Given the description of an element on the screen output the (x, y) to click on. 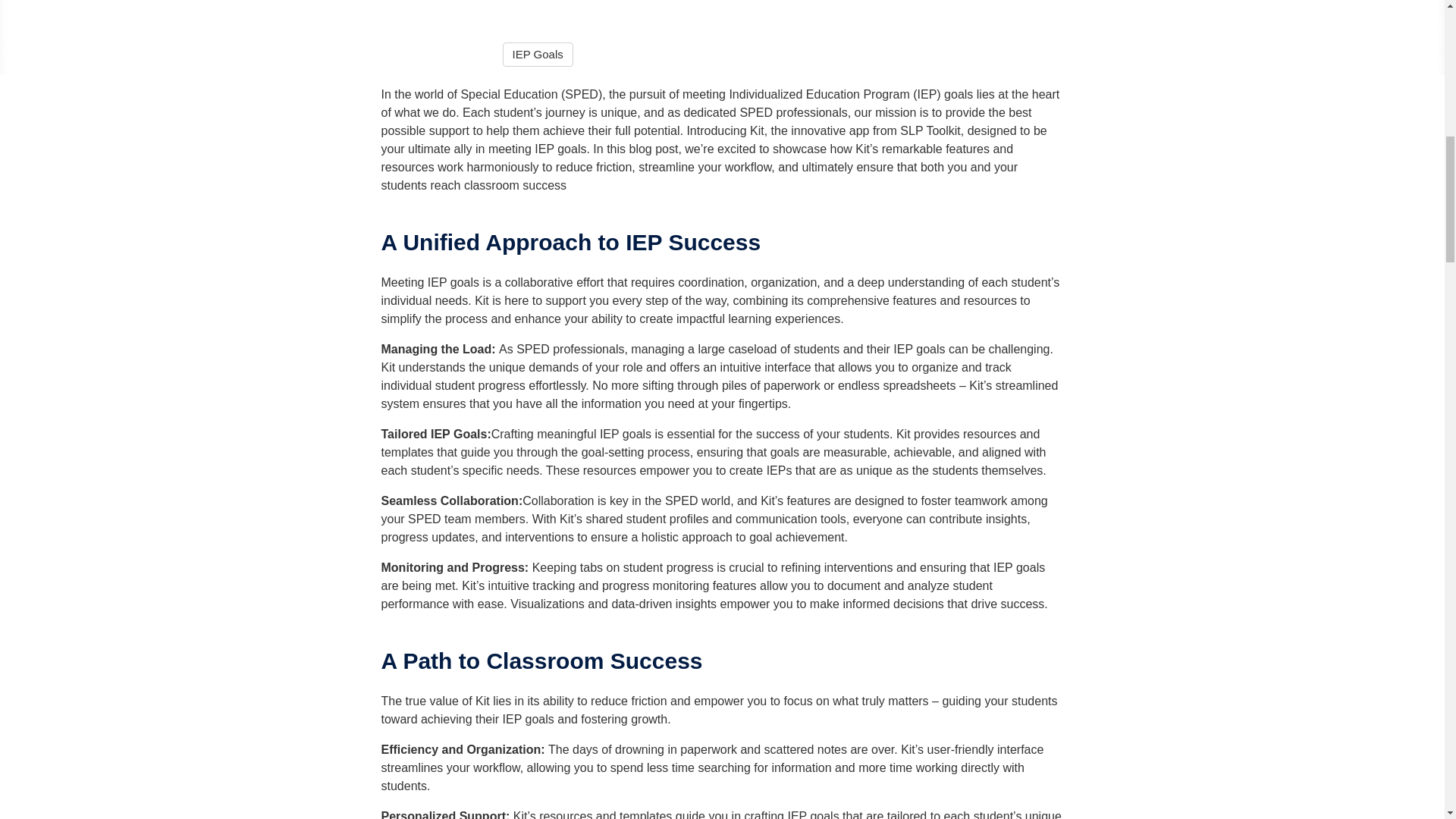
IEP Goals (537, 54)
